Given the description of an element on the screen output the (x, y) to click on. 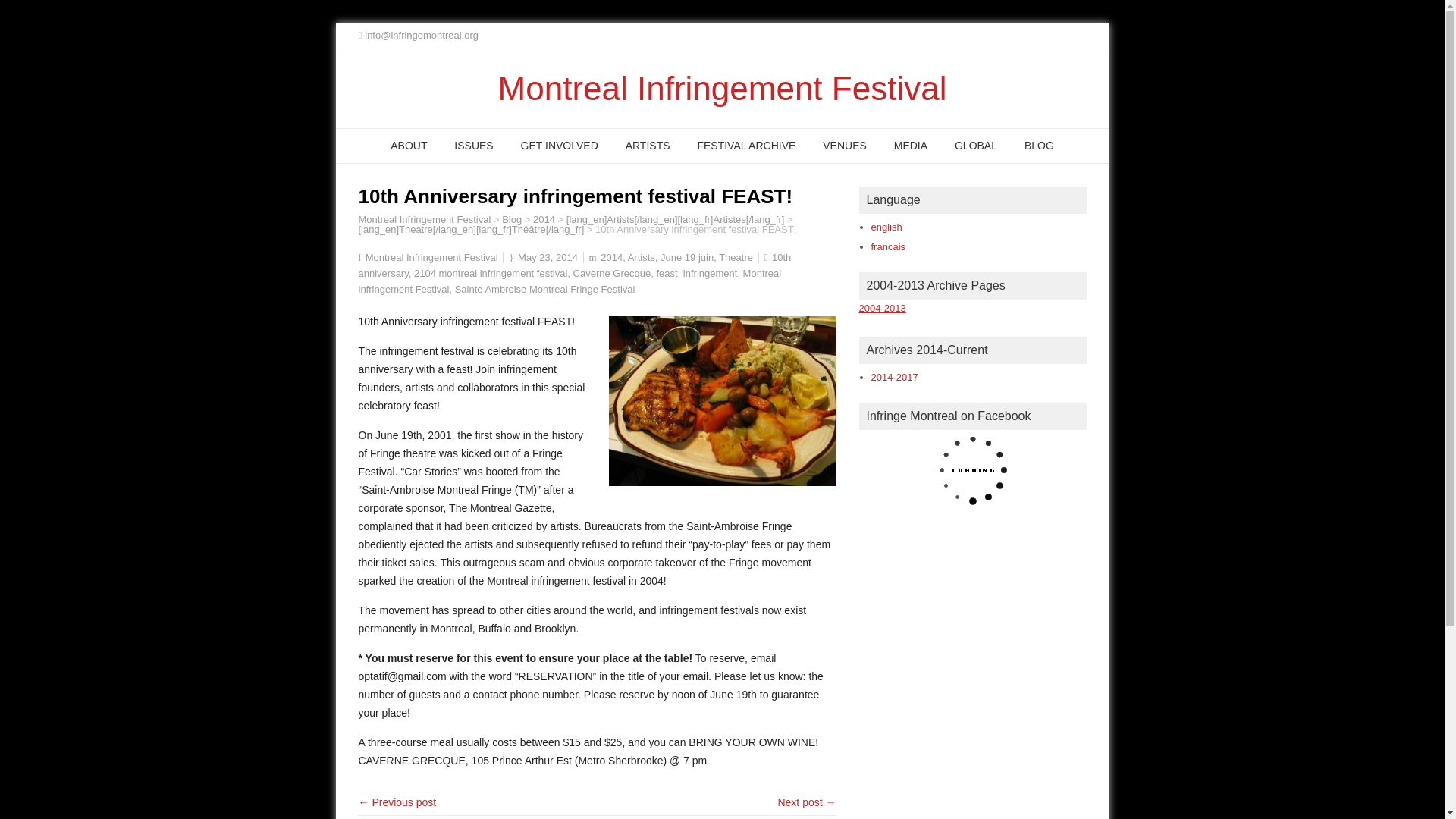
2014 (611, 256)
ABOUT (408, 145)
Theatre (735, 256)
Montreal Infringement Festival (722, 88)
FESTIVAL ARCHIVE (746, 145)
Montreal Infringement Festival (424, 219)
Critical Report from the World Fringe Congress (396, 802)
Go to the 2014 Category archives. (543, 219)
Go to Montreal Infringement Festival. (424, 219)
MEDIA (910, 145)
ISSUES (473, 145)
infringement (710, 273)
Go to Blog. (511, 219)
Blog (511, 219)
Montreal Infringement Festival (431, 256)
